Given the description of an element on the screen output the (x, y) to click on. 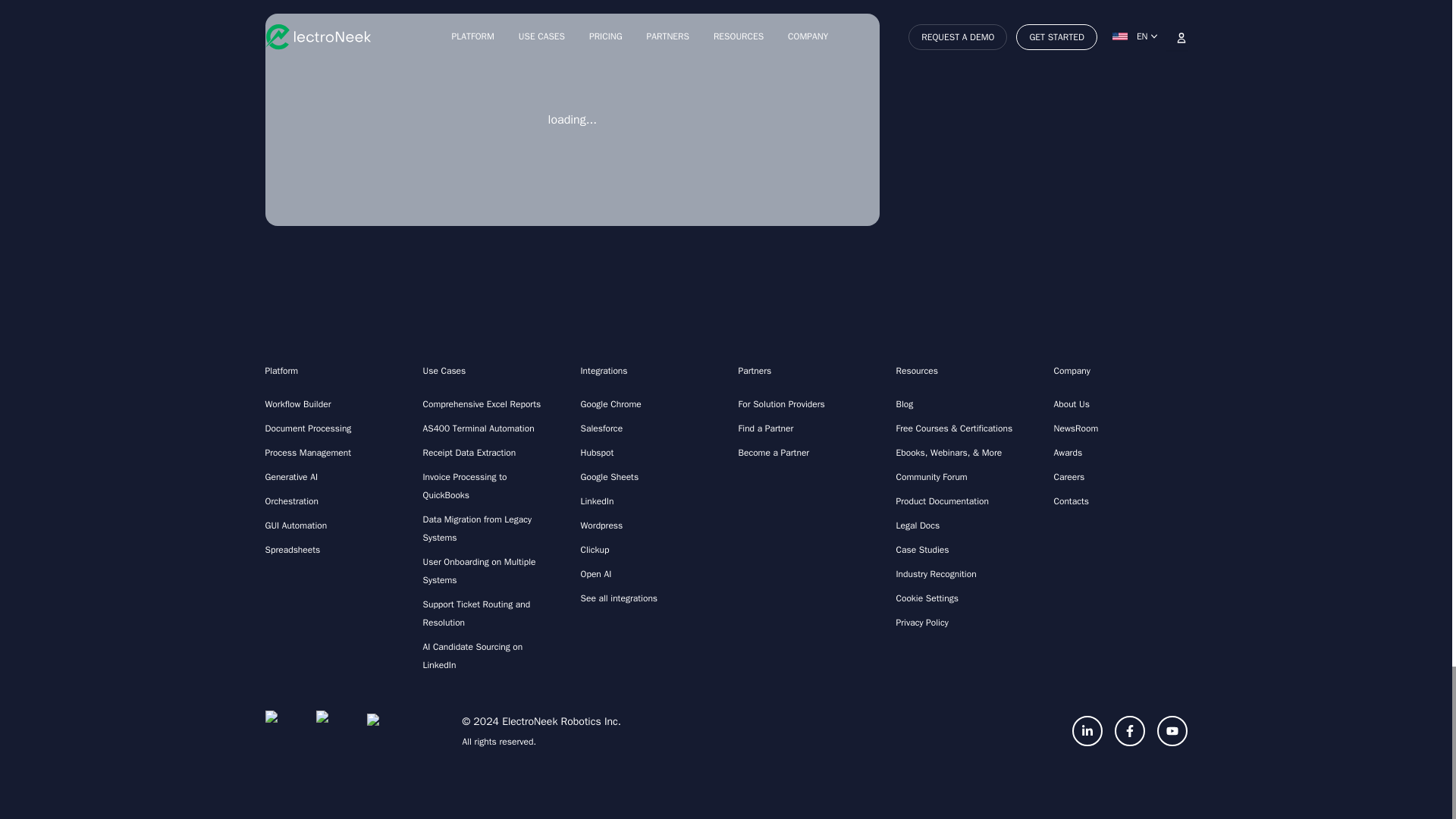
Process Management (331, 452)
GUI Automation (331, 525)
Orchestration (331, 501)
Comprehensive Excel Reports (489, 403)
Receipt Data Extraction (489, 452)
Spreadsheets (331, 549)
Generative AI (331, 476)
AS400 Terminal Automation (489, 428)
Workflow Builder (331, 403)
Invoice Processing to QuickBooks (489, 485)
Document Processing (331, 428)
Data Migration from Legacy Systems (489, 528)
